Given the description of an element on the screen output the (x, y) to click on. 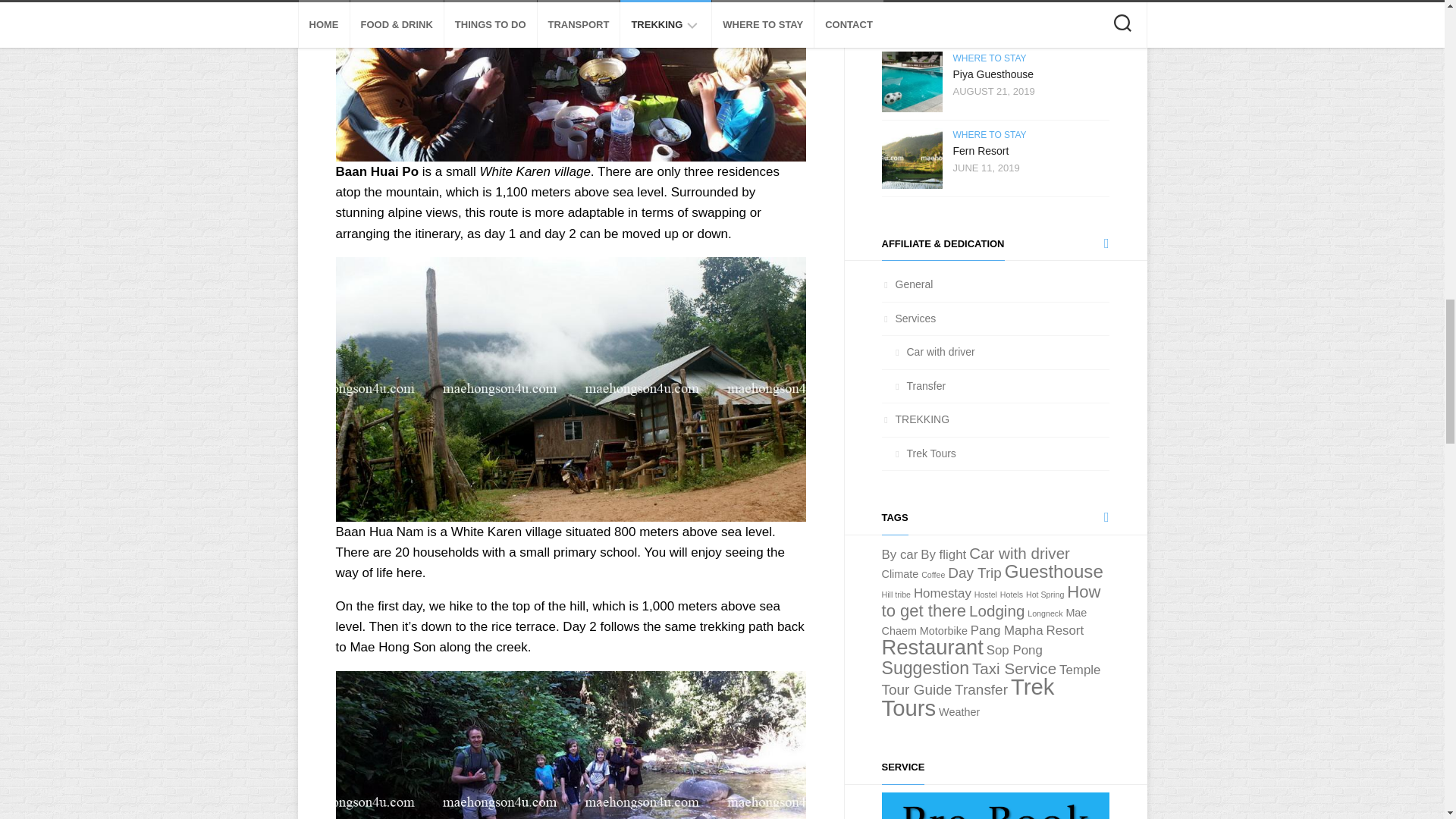
Make inquiries (994, 805)
